Given the description of an element on the screen output the (x, y) to click on. 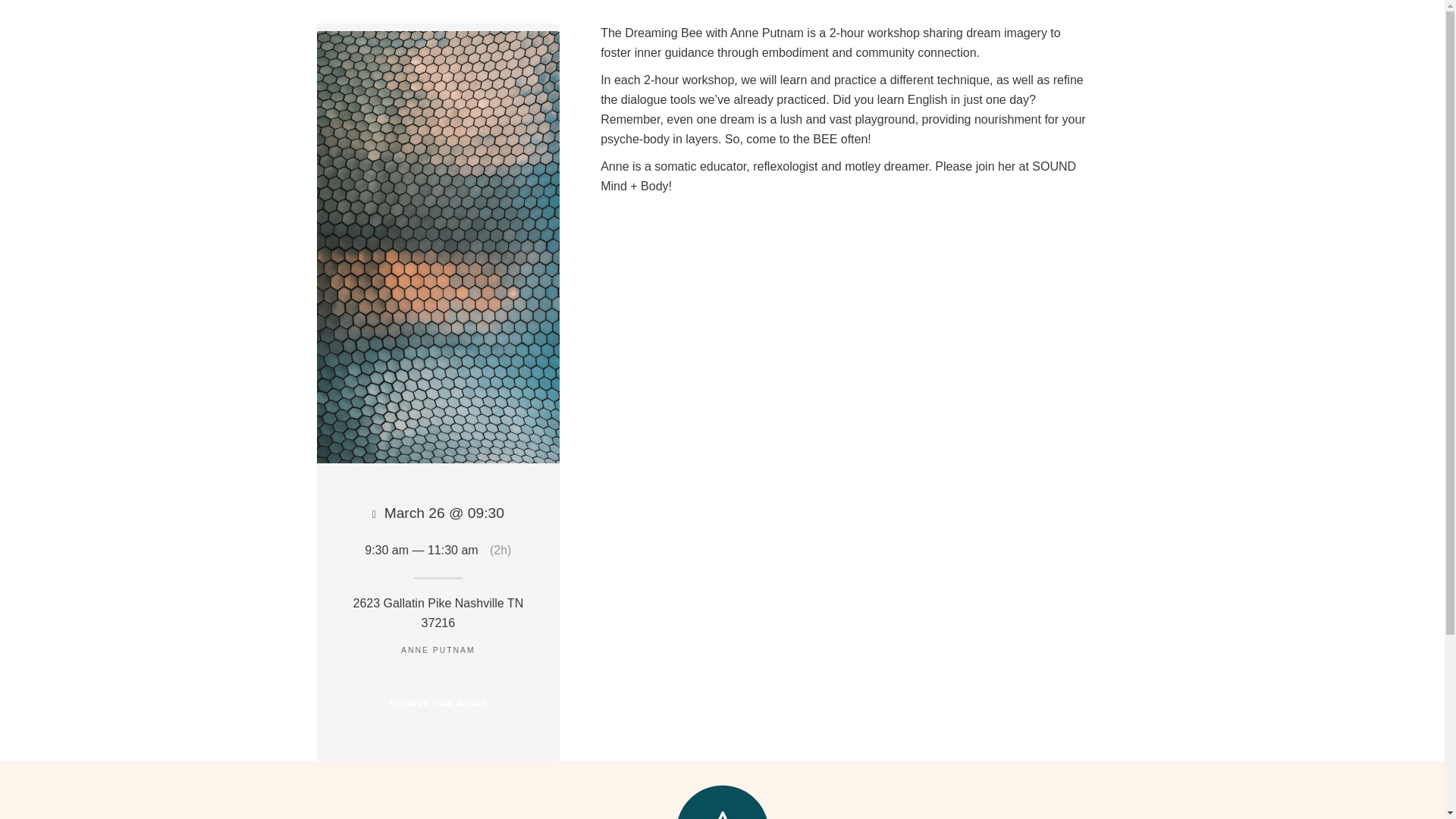
Reserve Your Space (438, 702)
